Given the description of an element on the screen output the (x, y) to click on. 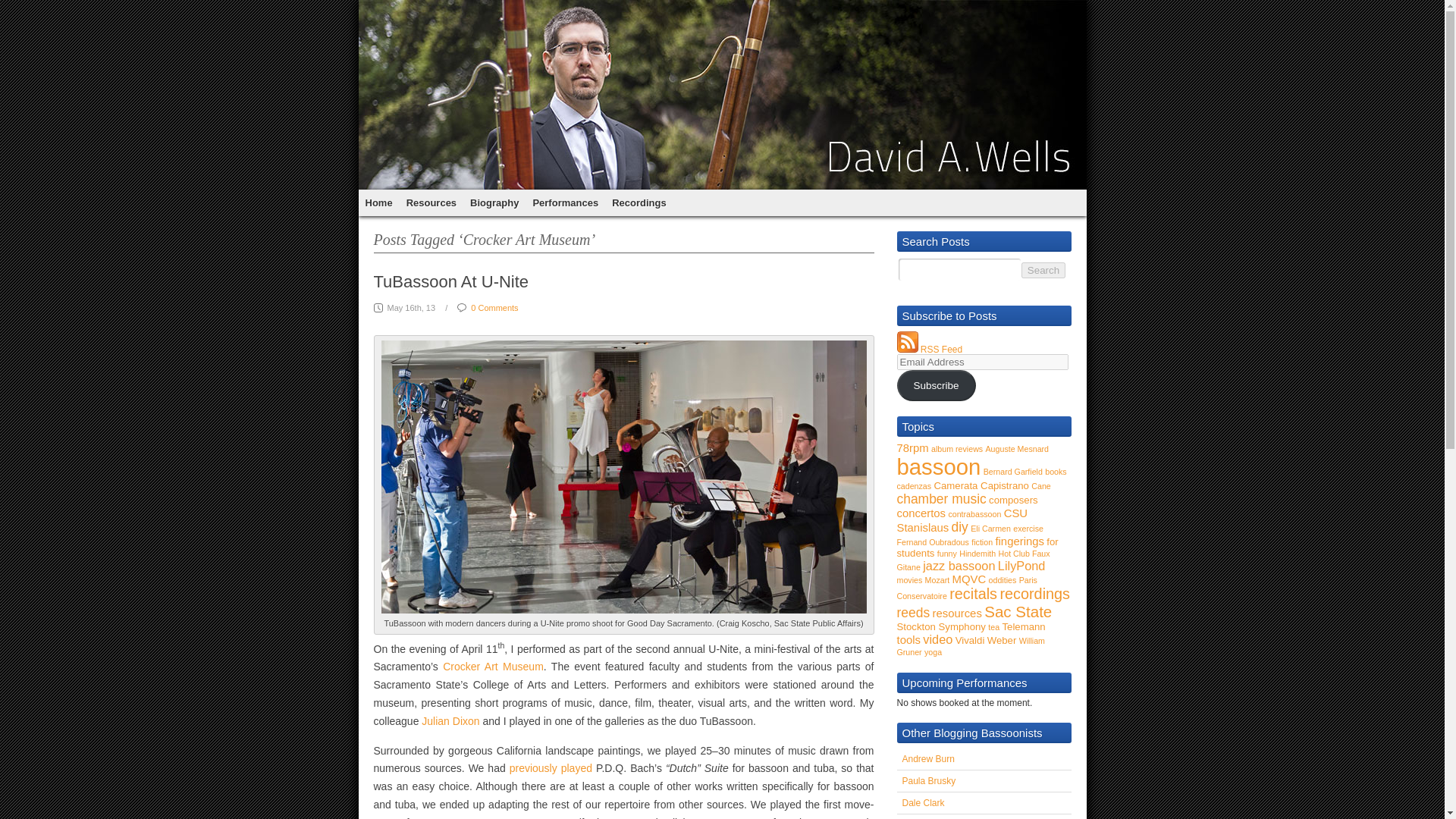
Dale Clark's Bassoon Reed Making Blog (923, 802)
Sonata, K. 292 (539, 817)
RSS Feed (941, 348)
Paula Brusky, PhD (929, 780)
cadenzas (913, 485)
bassoon (937, 466)
Camerata Capistrano (981, 485)
Subscribe (935, 385)
Search (1043, 270)
0 Comments (494, 307)
Biography (494, 202)
Resources (430, 202)
album reviews (956, 448)
Search (1043, 270)
78rpm (912, 448)
